Given the description of an element on the screen output the (x, y) to click on. 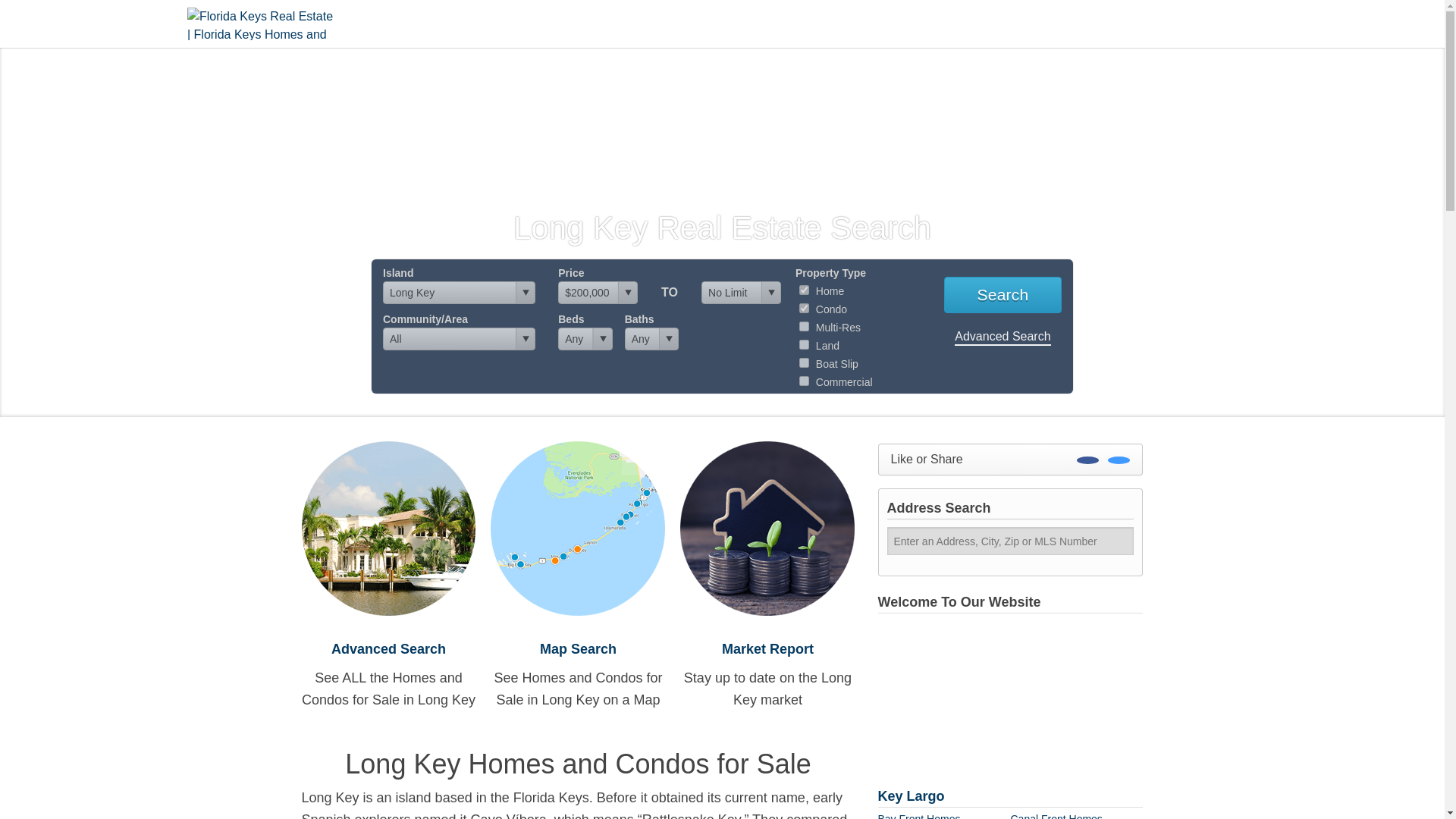
com (804, 380)
con (804, 307)
Advanced Search (388, 648)
lnd (804, 344)
boa (804, 362)
Long Key Homes and Condos for Sale (388, 648)
res (804, 289)
Long Key Market Report (766, 527)
Map Search (577, 648)
Market Report (767, 648)
Long Key Market Report (767, 648)
mul (804, 326)
Search (1002, 294)
Long Key Homes and Condos for Sale (388, 527)
Long Key Real Estate Map Search (577, 527)
